Given the description of an element on the screen output the (x, y) to click on. 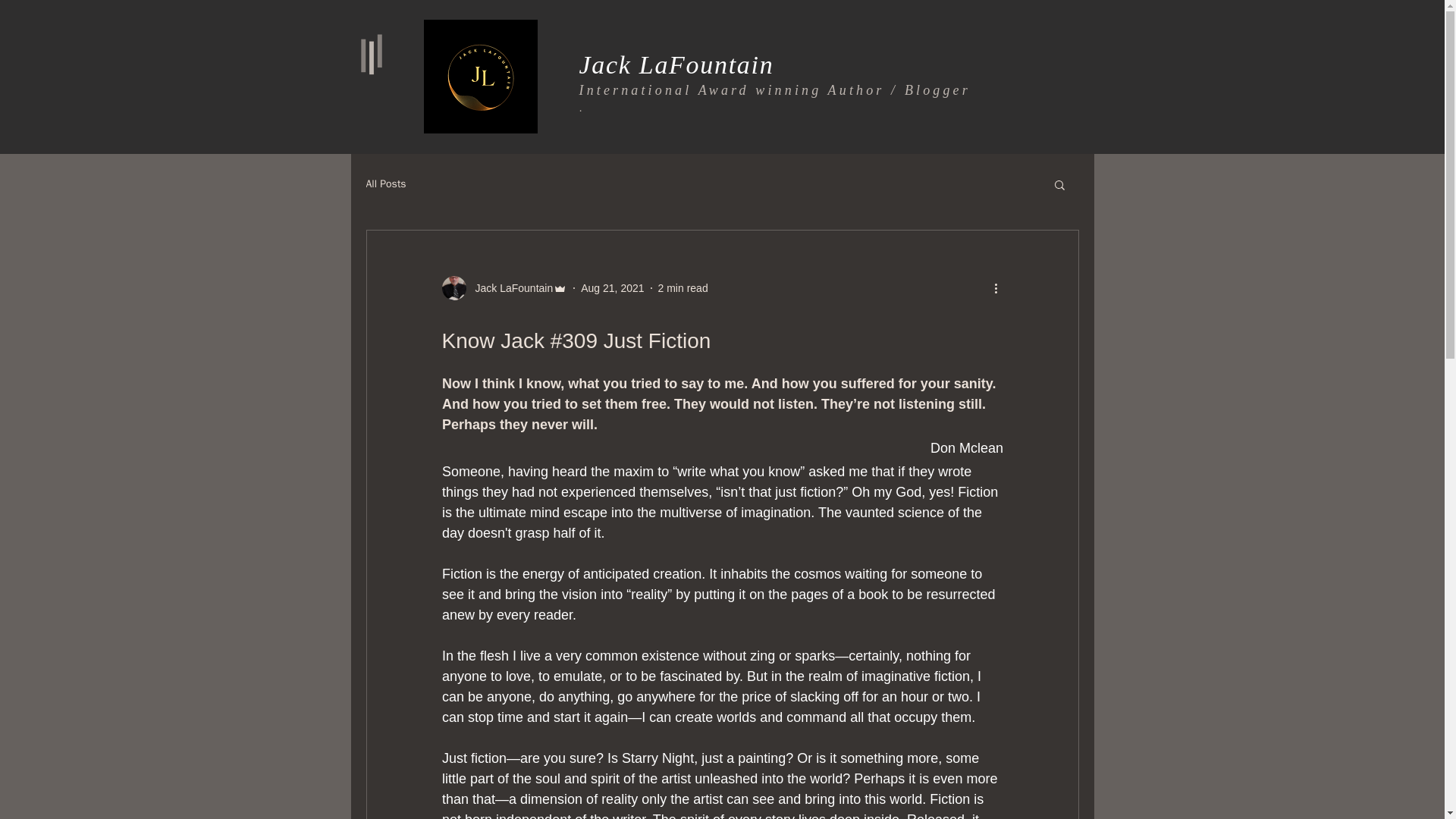
All Posts (385, 183)
2 min read (682, 287)
Jack LaFountain (504, 288)
Aug 21, 2021 (611, 287)
Jack LaFountain (676, 64)
Author Logo.png (480, 76)
Jack LaFountain (509, 288)
